Given the description of an element on the screen output the (x, y) to click on. 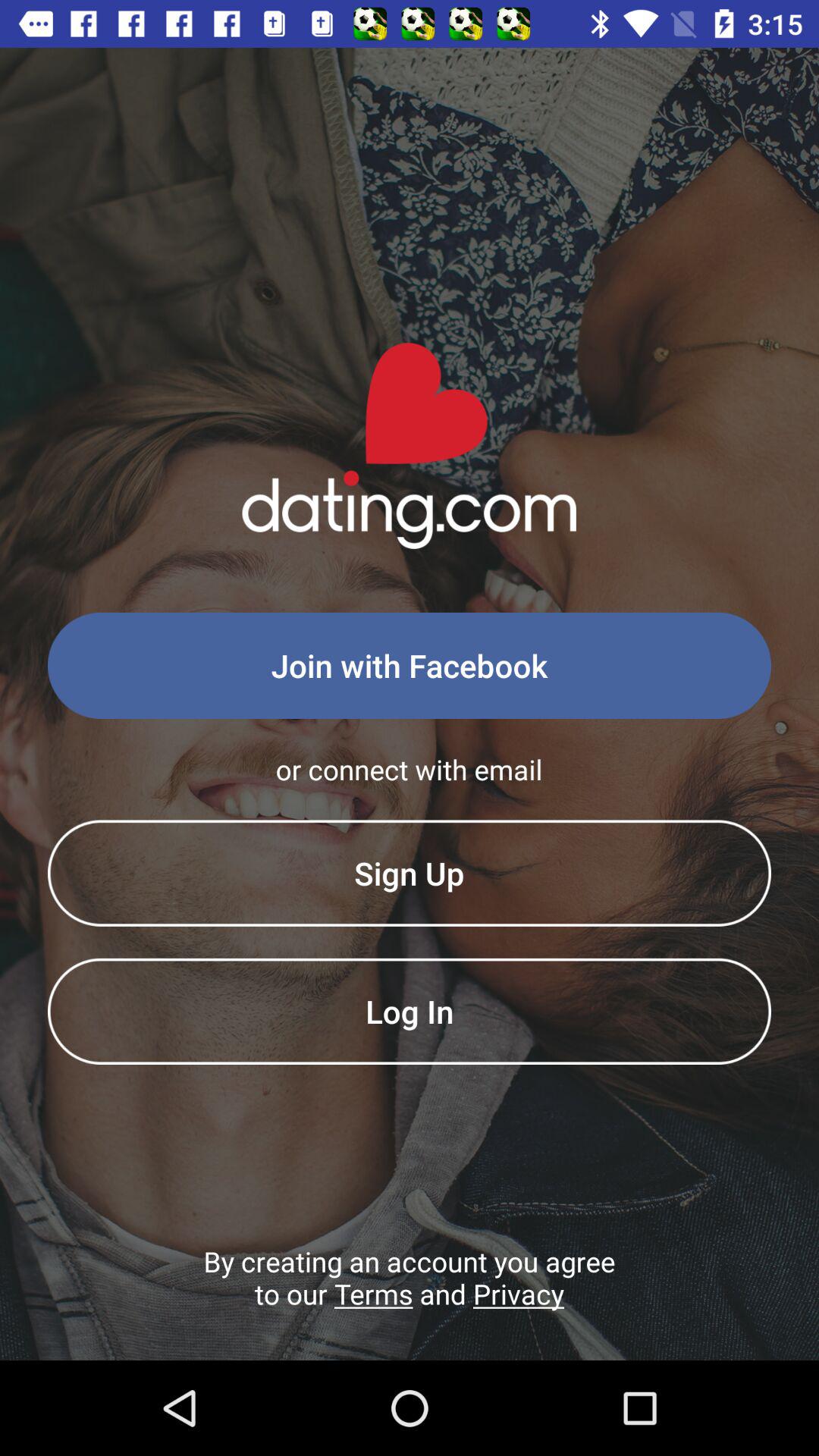
jump to by creating an (409, 1301)
